Given the description of an element on the screen output the (x, y) to click on. 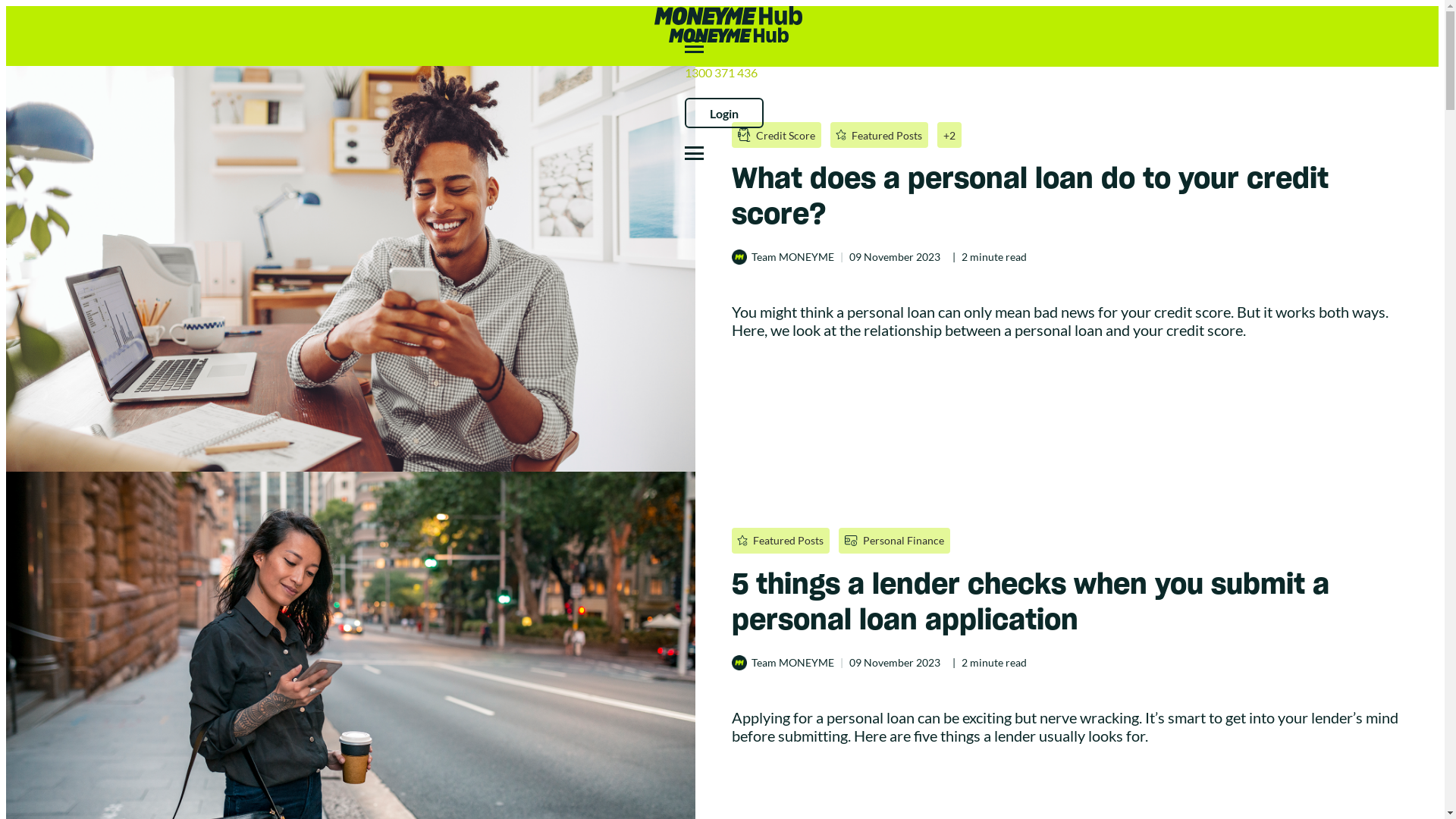
What does a personal loan do to your credit score? Element type: text (1075, 195)
Sign up Element type: text (79, 18)
+2 Element type: text (949, 134)
1300 371 436 Element type: text (720, 72)
Login Element type: text (723, 112)
